Given the description of an element on the screen output the (x, y) to click on. 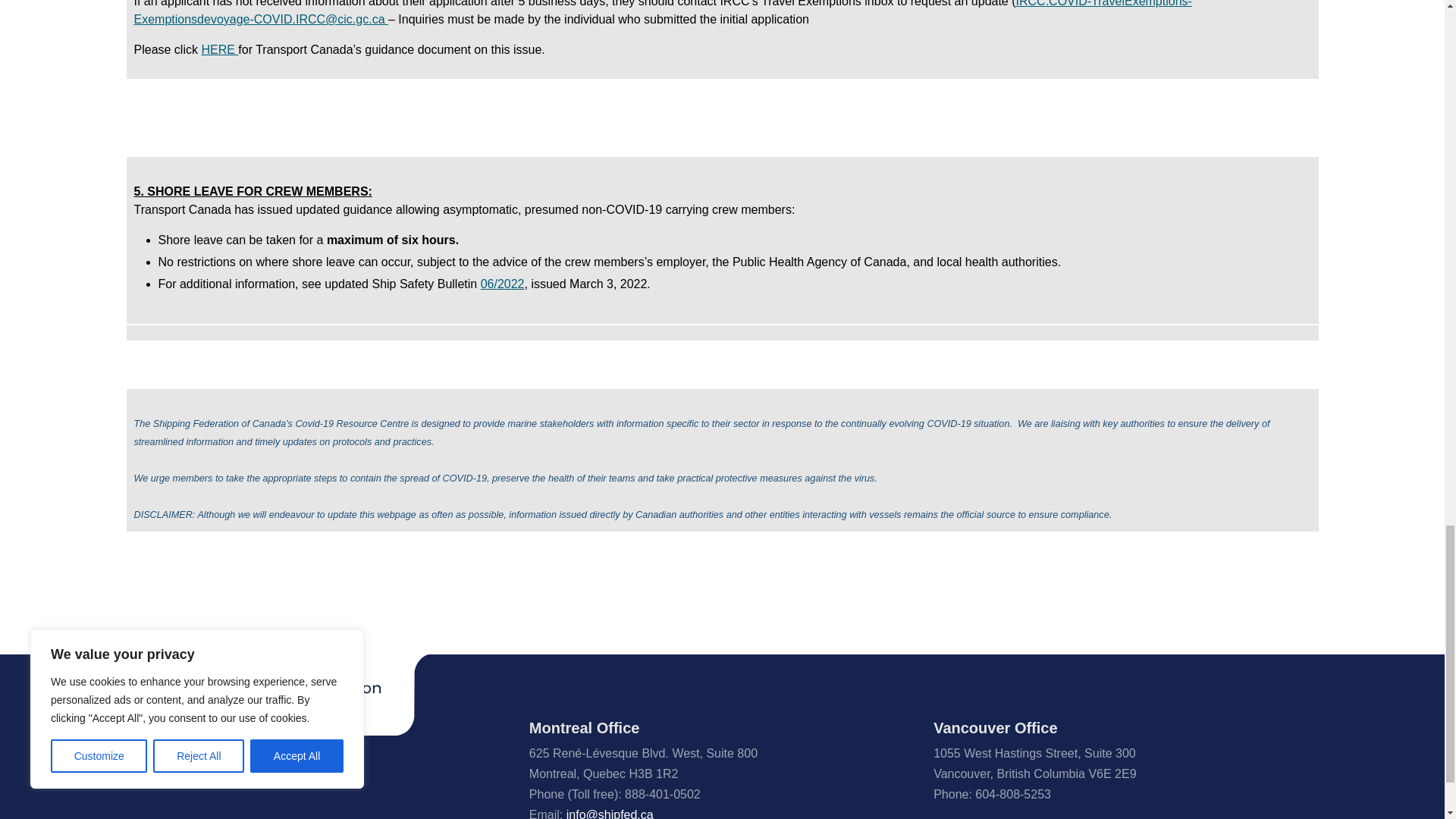
2020-06-25-Visa-Application (219, 49)
